Given the description of an element on the screen output the (x, y) to click on. 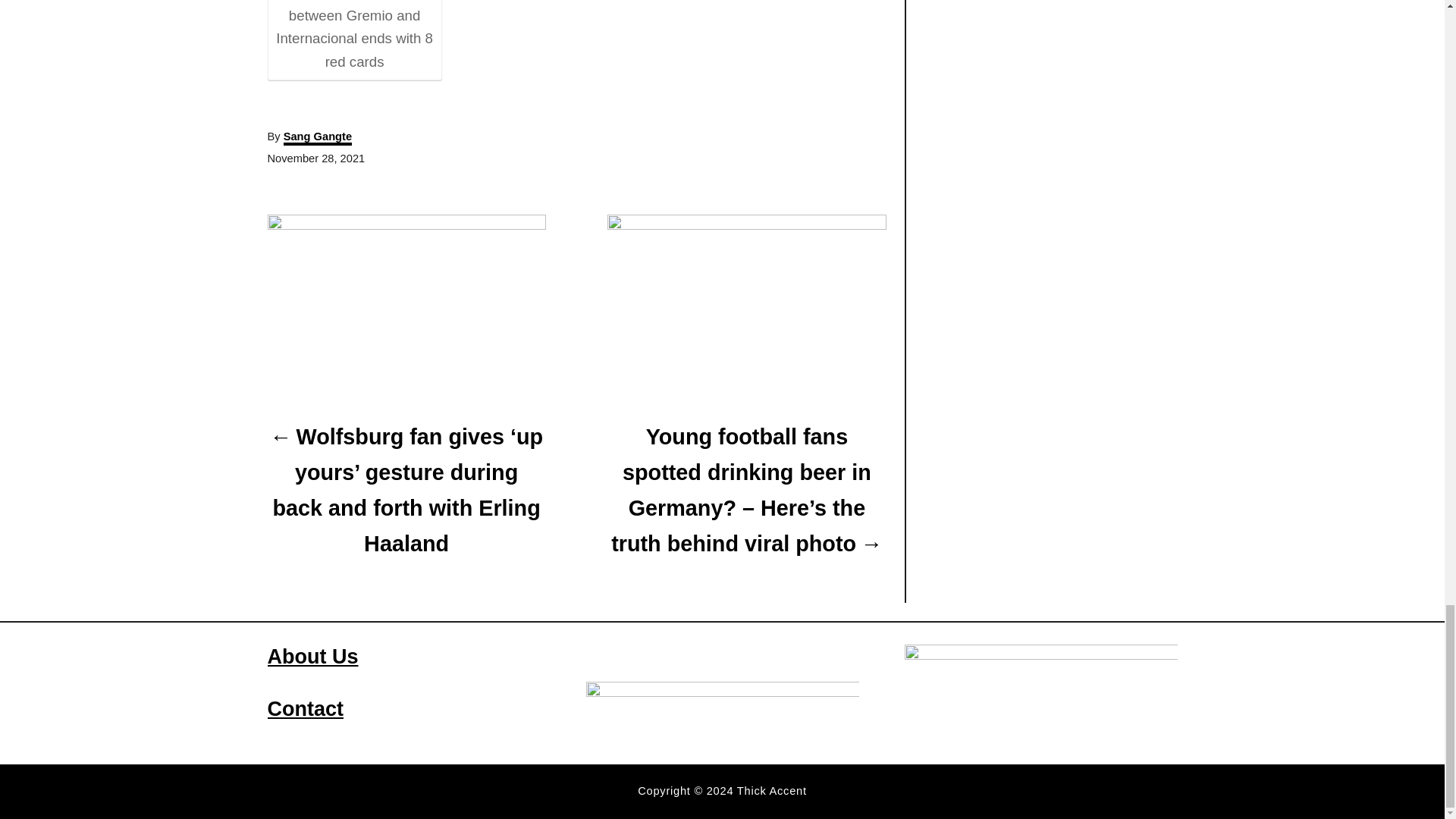
Contact (304, 708)
Sang Gangte (317, 137)
About Us (312, 656)
